Given the description of an element on the screen output the (x, y) to click on. 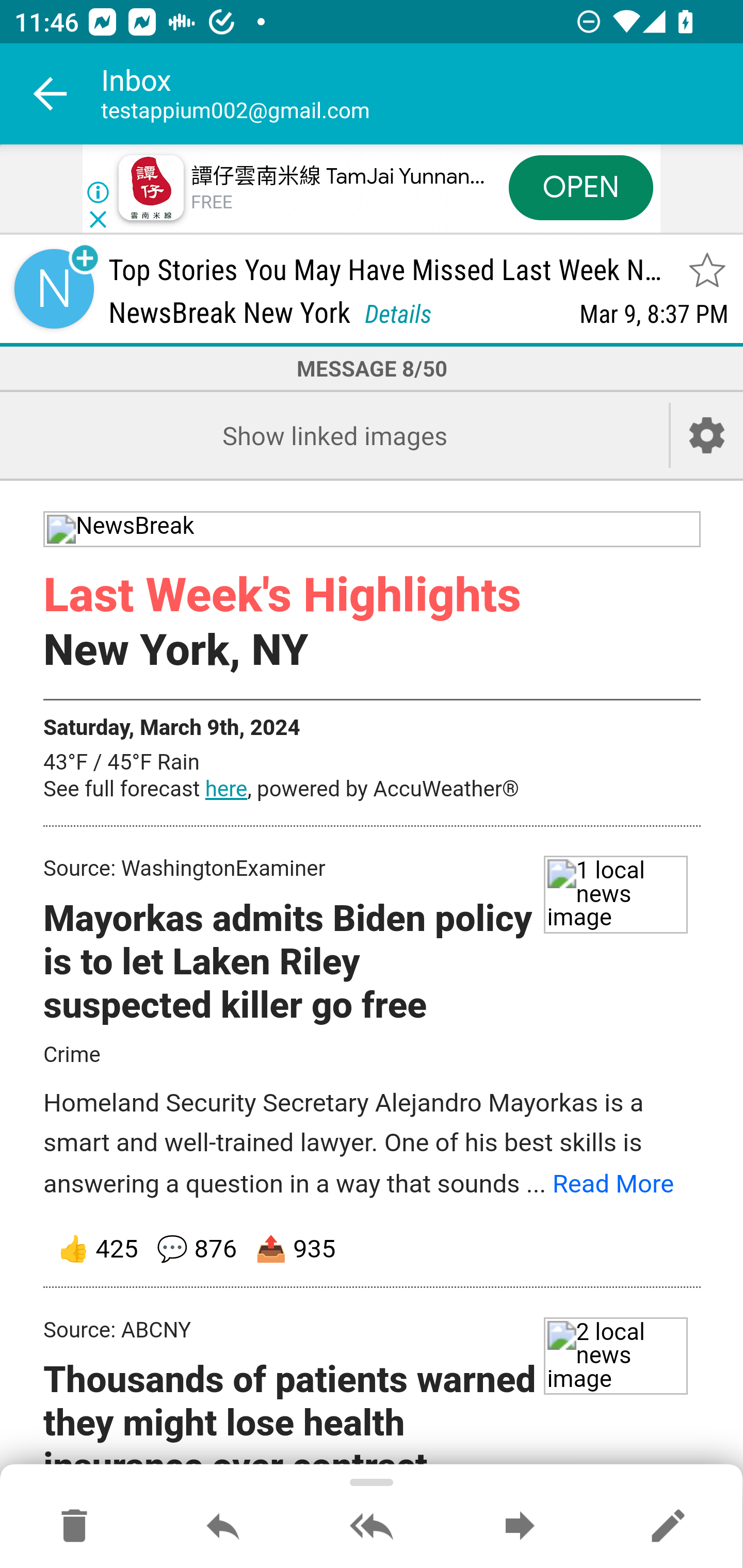
Navigate up (50, 93)
Inbox testappium002@gmail.com (422, 93)
OPEN (580, 187)
譚仔雲南米線 TamJai Yunnan… (337, 177)
FREE (212, 202)
Sender contact button (53, 289)
Show linked images (334, 435)
Account setup (706, 435)
here (225, 789)
👍 425   💬 876   📤 935 (372, 1250)
Move to Deleted (74, 1527)
Reply (222, 1527)
Reply all (371, 1527)
Forward (519, 1527)
Reply as new (667, 1527)
